Given the description of an element on the screen output the (x, y) to click on. 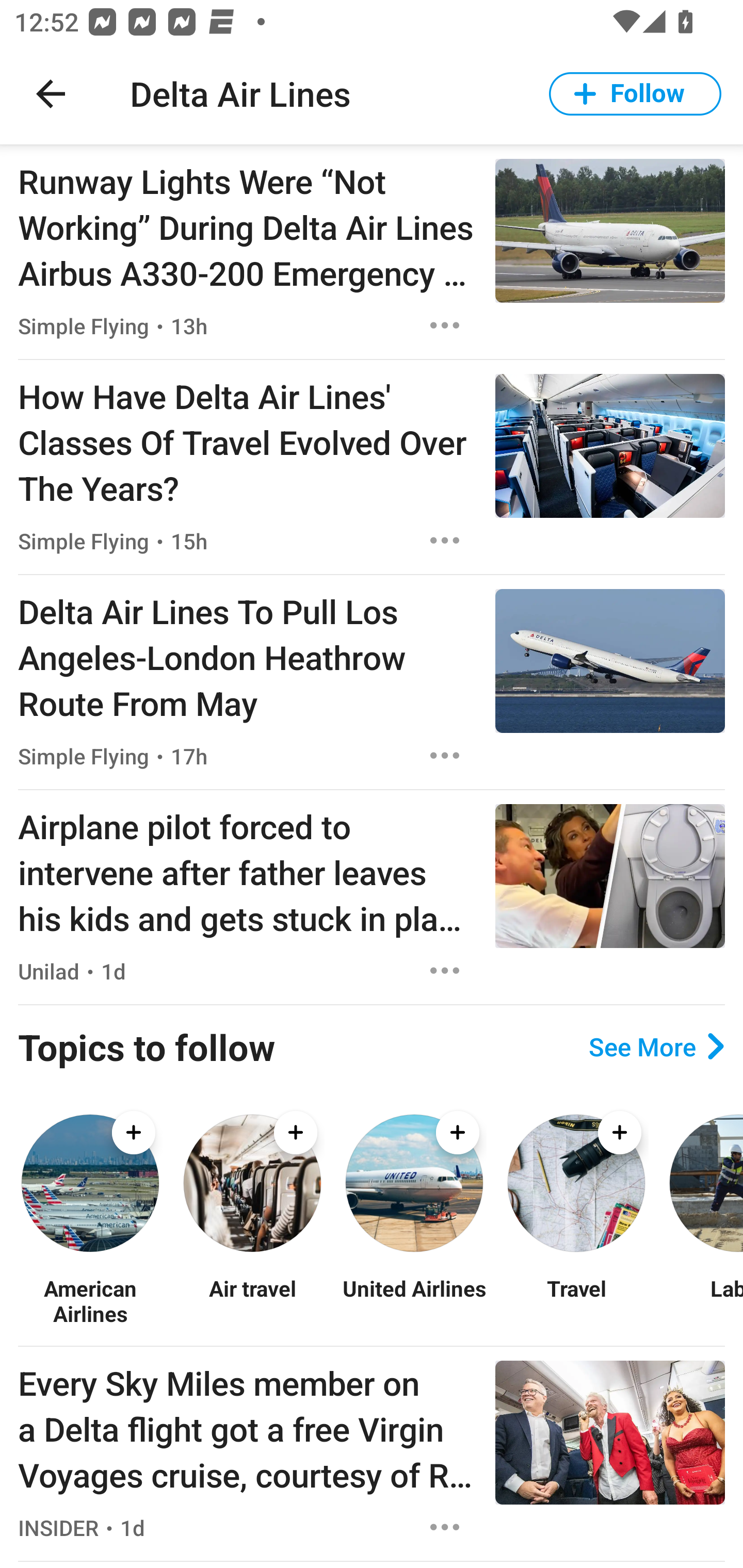
Navigate up (50, 93)
Follow (635, 94)
Options (444, 325)
Options (444, 540)
Options (444, 755)
Options (444, 970)
See More (656, 1046)
American Airlines (89, 1300)
Air travel (251, 1300)
United Airlines (413, 1300)
Travel (575, 1300)
Options (444, 1527)
